Given the description of an element on the screen output the (x, y) to click on. 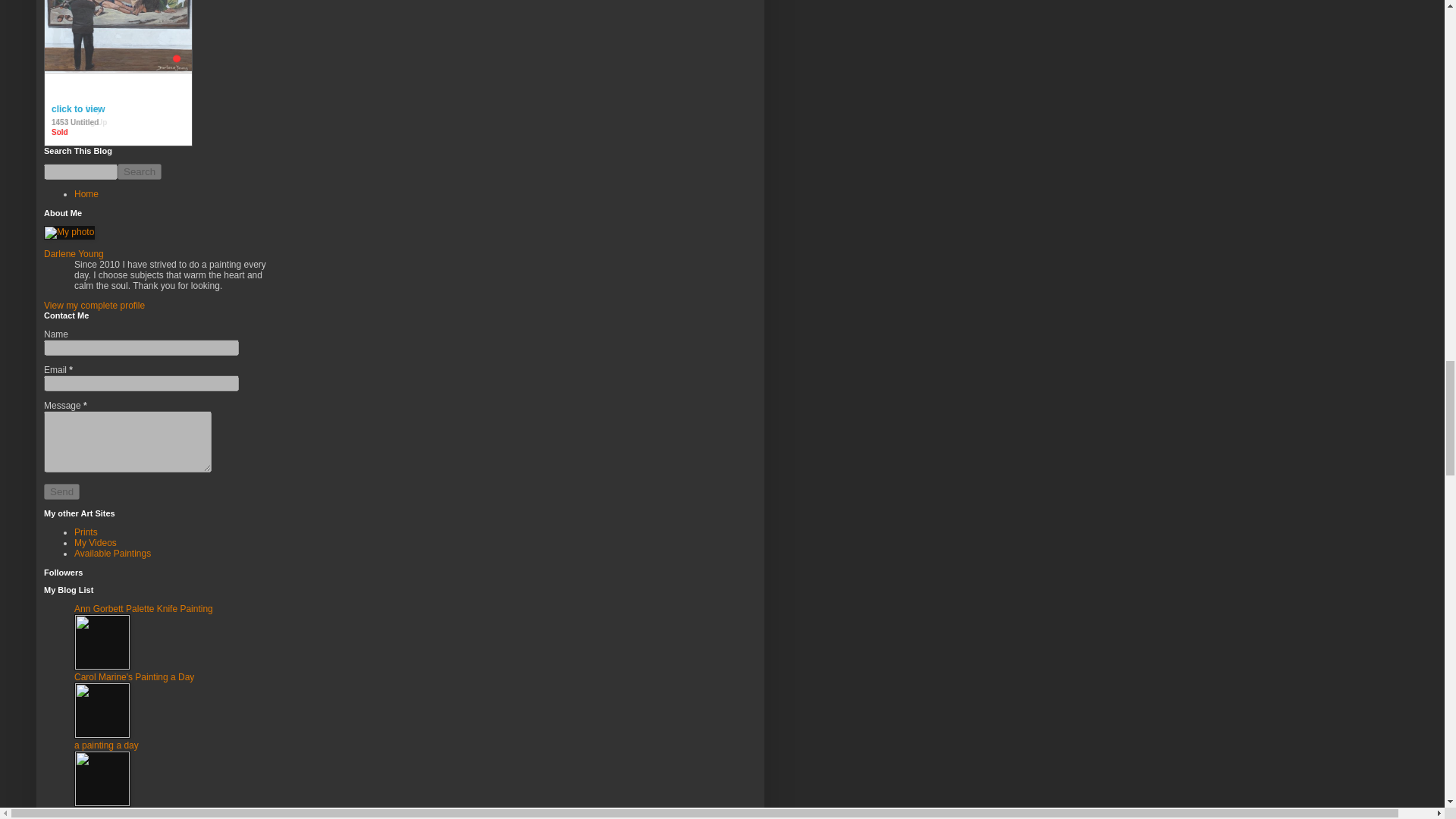
Search (139, 171)
Send (61, 491)
Search (139, 171)
